Given the description of an element on the screen output the (x, y) to click on. 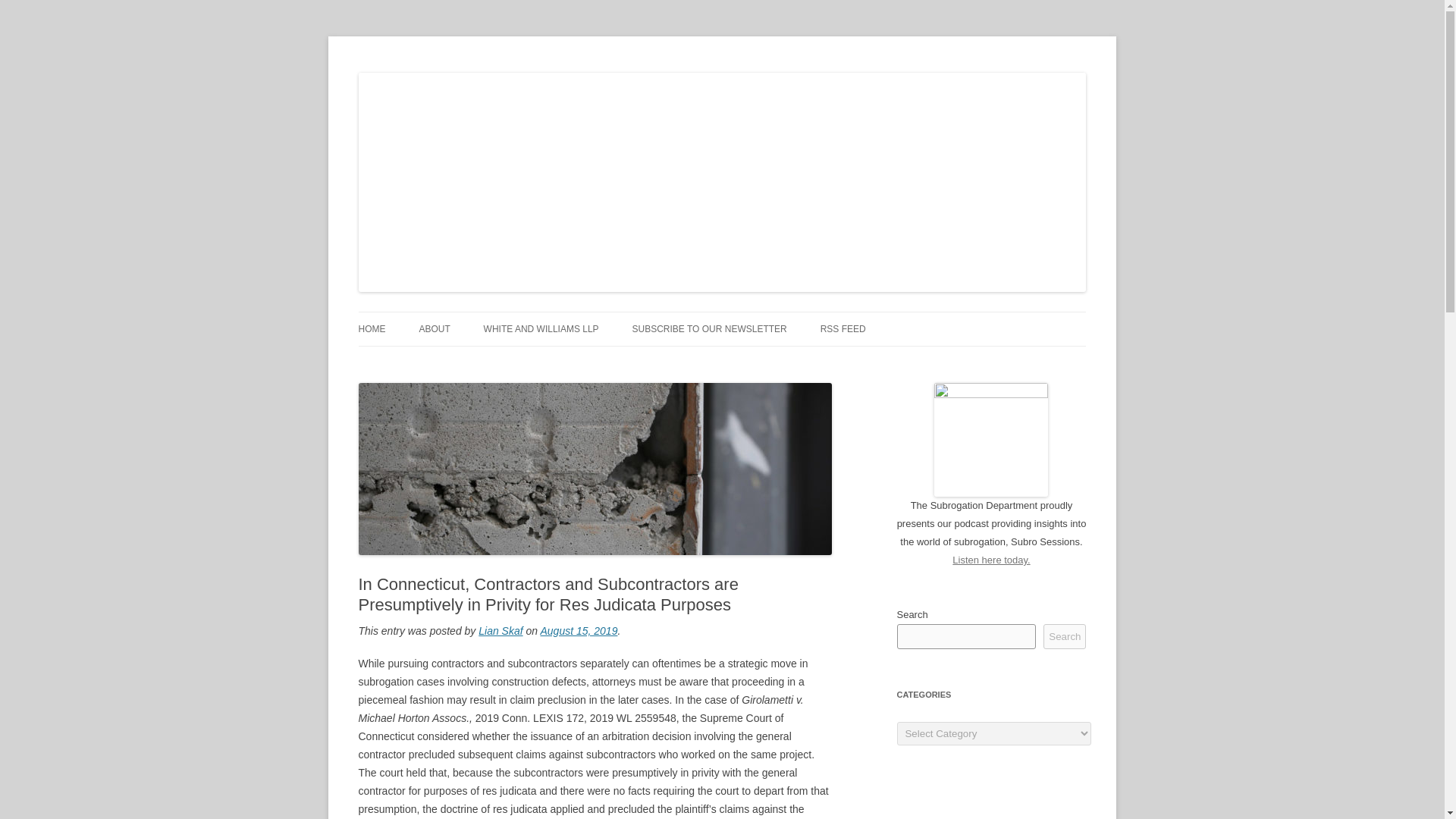
ABOUT (434, 328)
Listen here today. (990, 559)
Lian Skaf (500, 630)
WHITE AND WILLIAMS LLP (540, 328)
August 15, 2019 (578, 630)
View all posts by Lian Skaf (500, 630)
HOME (371, 328)
Skip to content (757, 317)
Skip to content (757, 317)
DISCLAIMER AND COPYRIGHT (494, 360)
RSS FEED (843, 328)
The Subrogation Strategist (484, 72)
4:24 pm (578, 630)
Search (1064, 636)
The Subrogation Strategist (484, 72)
